Given the description of an element on the screen output the (x, y) to click on. 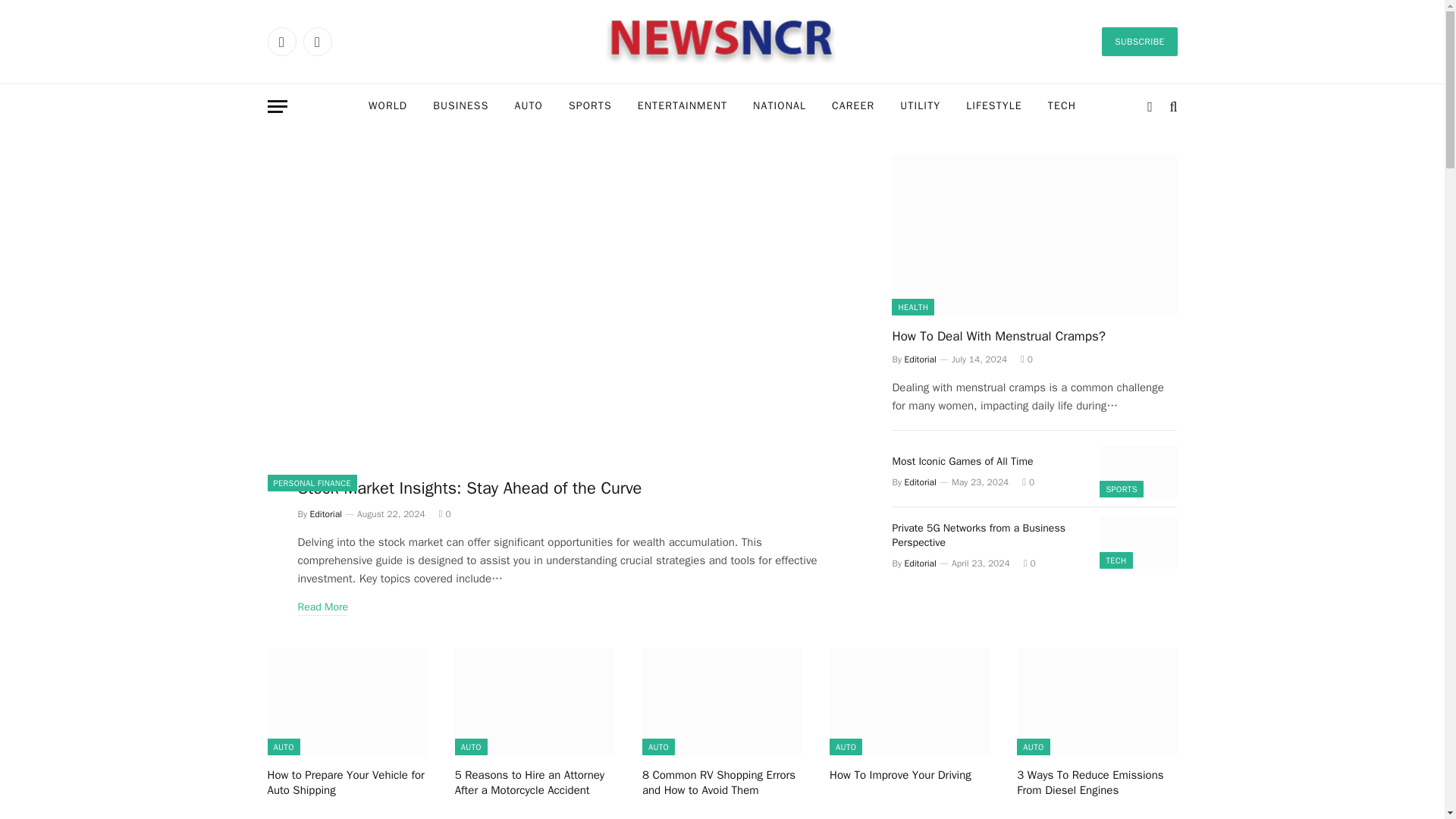
WORLD (387, 106)
News NCR (722, 41)
UTILITY (919, 106)
SPORTS (590, 106)
AUTO (528, 106)
SUBSCRIBE (1139, 41)
Most Iconic Games of All Time (1137, 471)
Facebook (280, 41)
How To Deal With Menstrual Cramps? (1033, 235)
